Given the description of an element on the screen output the (x, y) to click on. 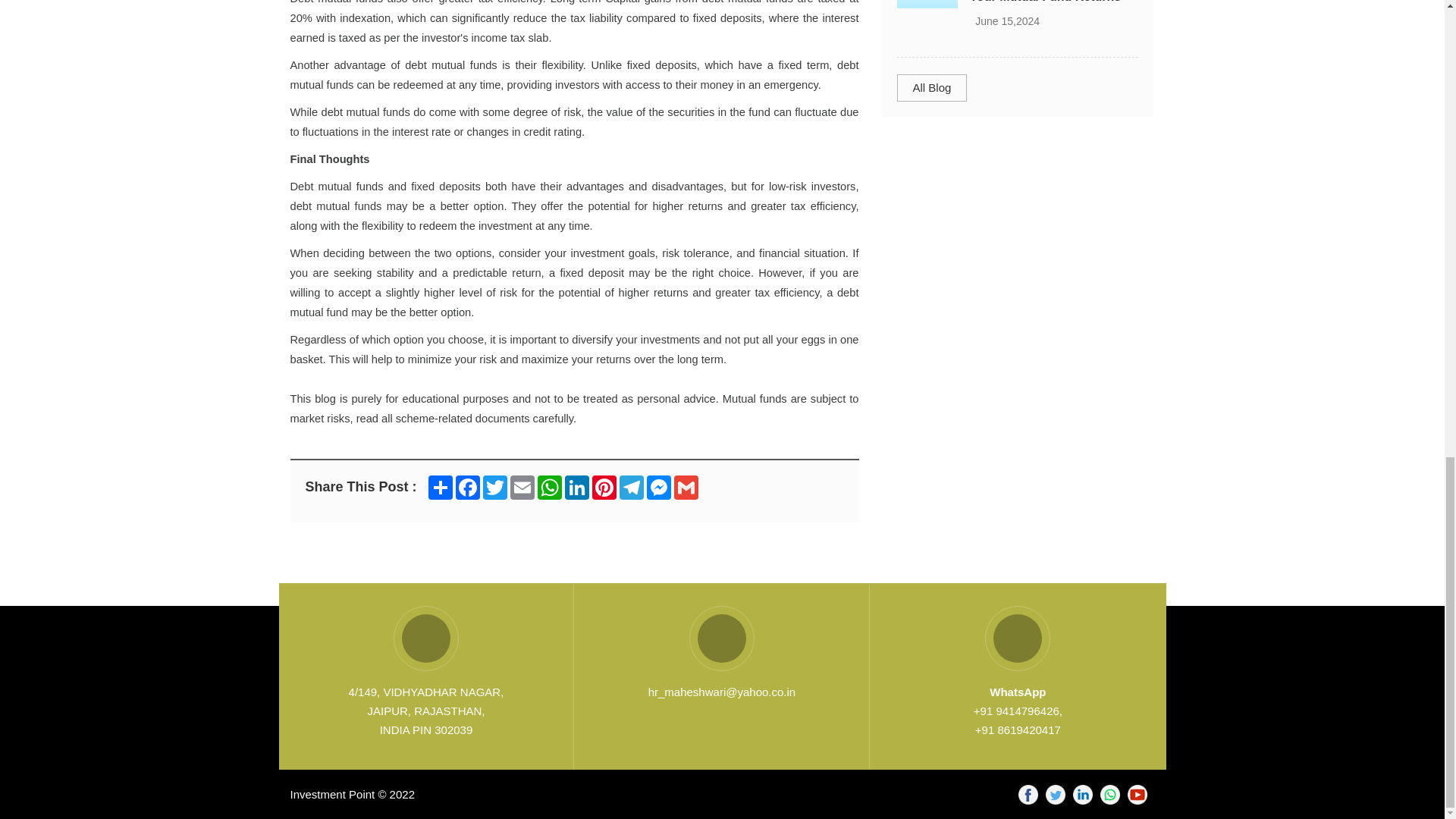
Gmail (686, 487)
LinkedIn (577, 487)
Twitter (494, 487)
All Blog (931, 87)
WhatsApp (549, 487)
Email (521, 487)
Messenger (658, 487)
Pinterest (604, 487)
Facebook (467, 487)
Share (440, 487)
Telegram (631, 487)
